Given the description of an element on the screen output the (x, y) to click on. 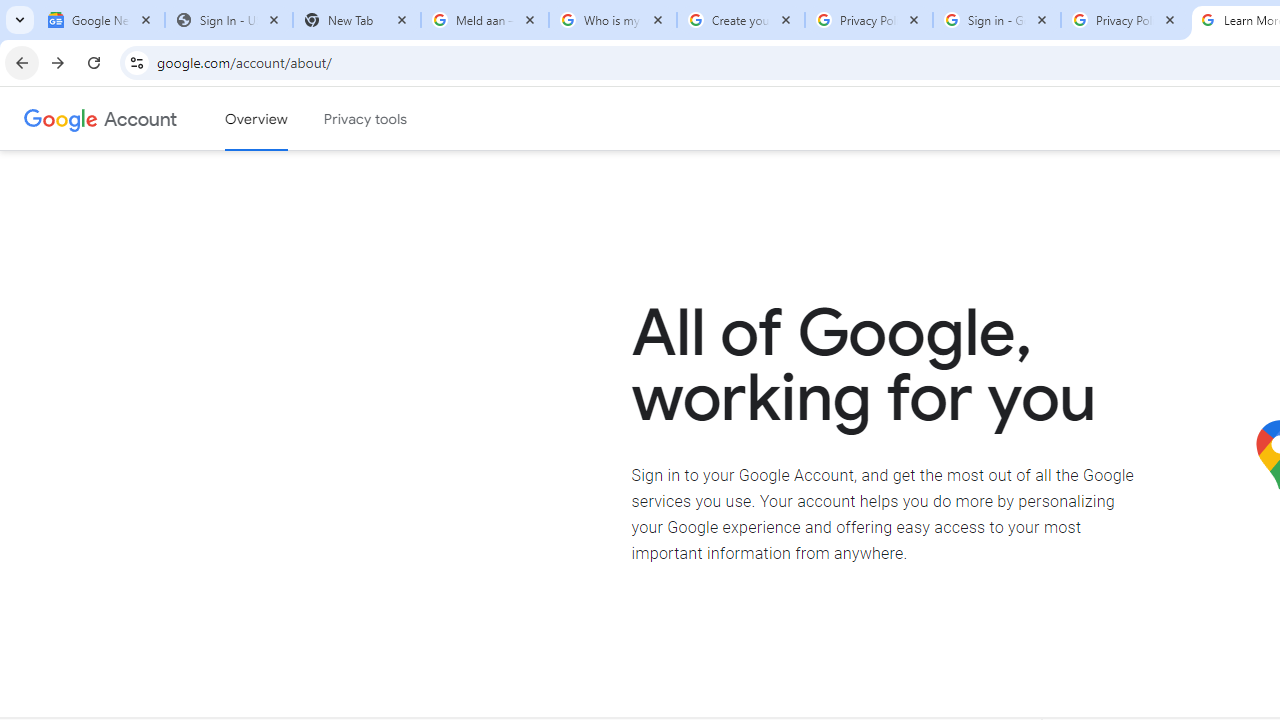
Manage Settings (354, 191)
Save As (104, 668)
Info (104, 559)
Switch License (1020, 442)
New (104, 208)
Word (963, 400)
Office Theme (554, 272)
PowerPoint (1039, 400)
Update Options (1025, 543)
